Given the description of an element on the screen output the (x, y) to click on. 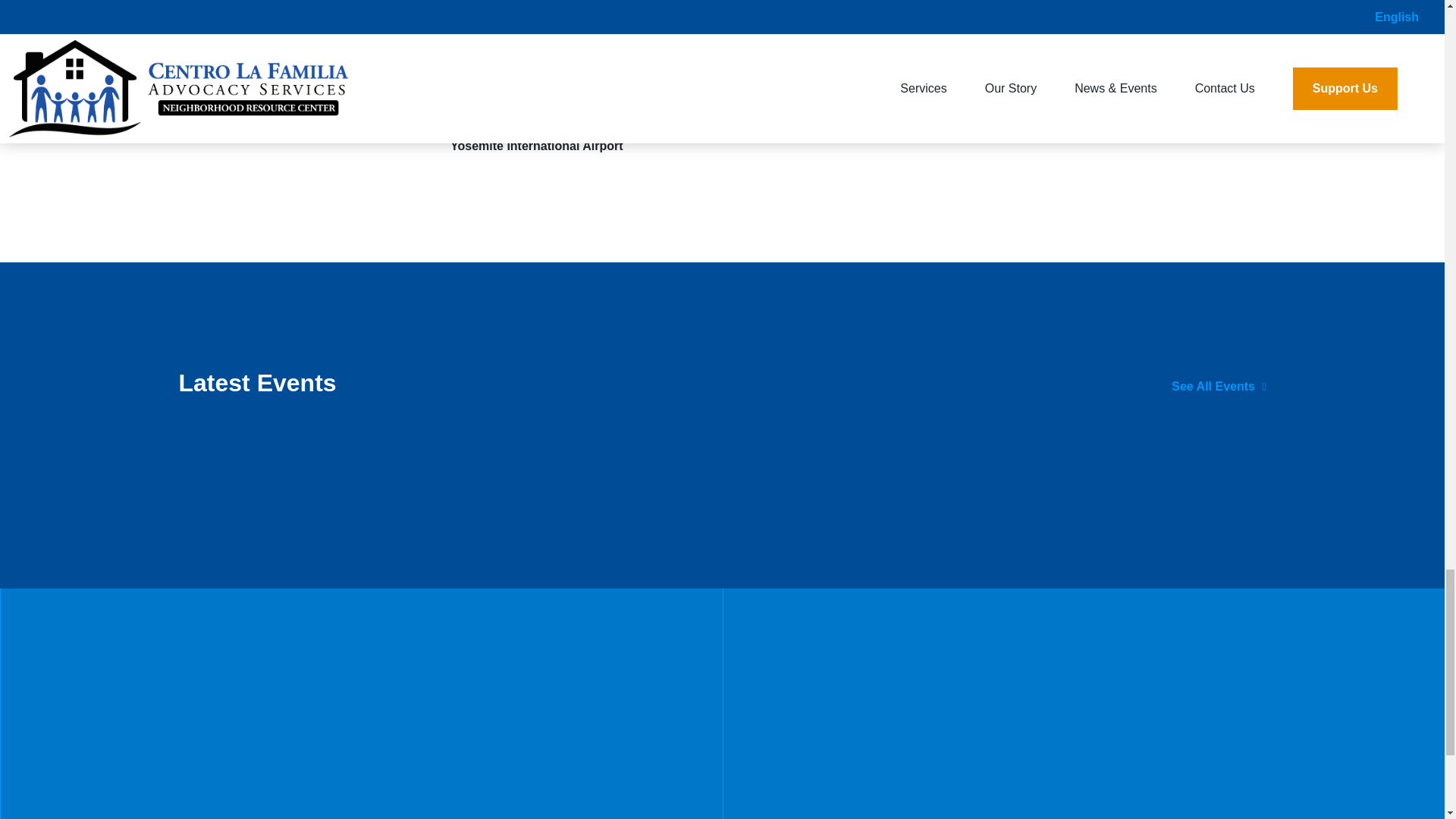
See All Events (1218, 386)
